Given the description of an element on the screen output the (x, y) to click on. 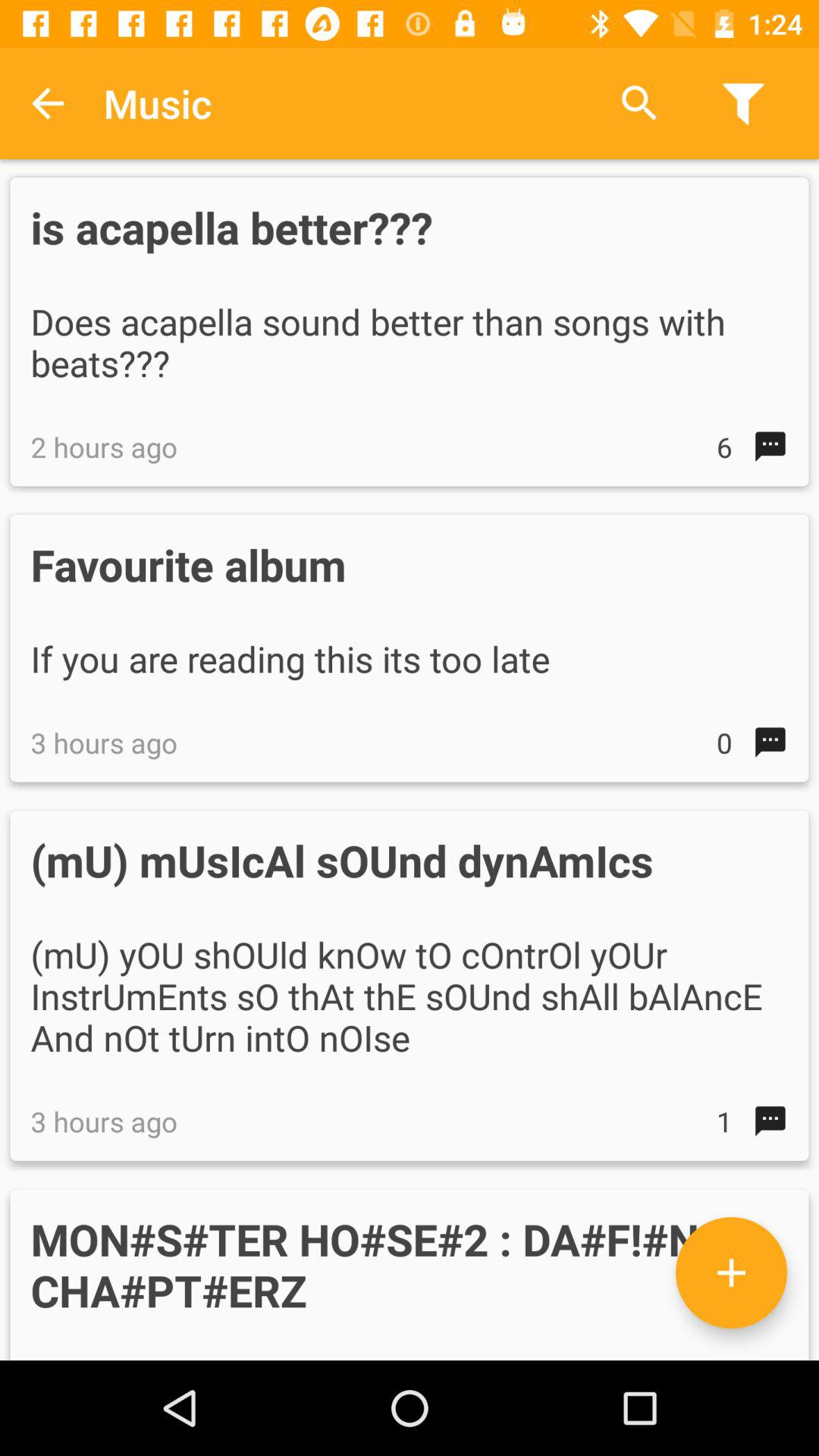
choose the item above the is acapella better??? item (47, 103)
